Given the description of an element on the screen output the (x, y) to click on. 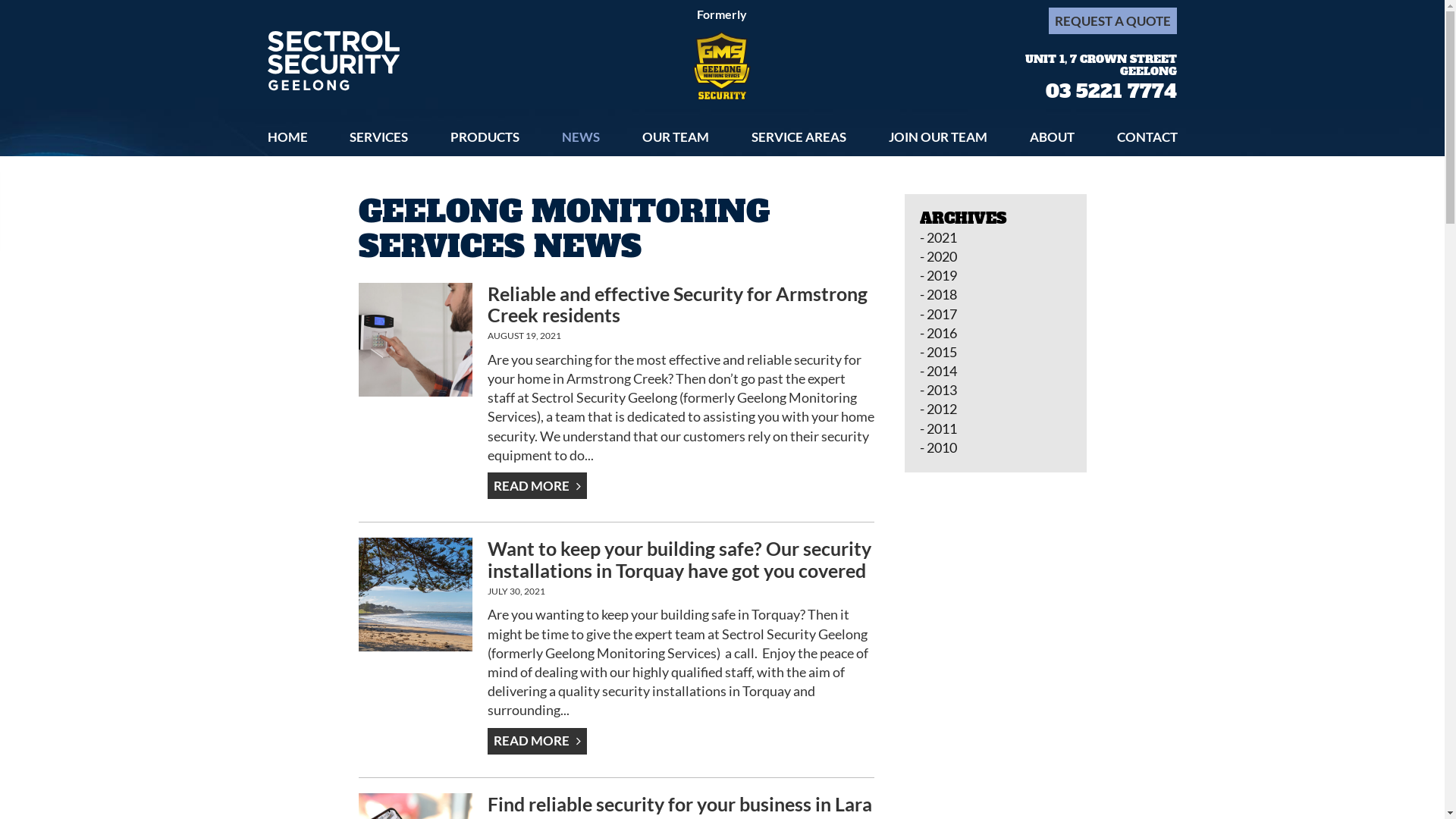
PRODUCTS Element type: text (484, 137)
2012 Element type: text (994, 408)
2018 Element type: text (994, 294)
READ MORE Element type: text (536, 741)
2011 Element type: text (994, 428)
OUR TEAM Element type: text (675, 137)
2020 Element type: text (994, 256)
HOME Element type: text (286, 137)
REQUEST A QUOTE Element type: text (1112, 20)
2015 Element type: text (994, 351)
SERVICES Element type: text (378, 137)
JOIN OUR TEAM Element type: text (937, 137)
2013 Element type: text (994, 389)
2014 Element type: text (994, 370)
NEWS Element type: text (580, 137)
READ MORE Element type: text (536, 485)
CONTACT Element type: text (1146, 137)
ABOUT Element type: text (1051, 137)
2021 Element type: text (994, 237)
2017 Element type: text (994, 313)
2016 Element type: text (994, 332)
SERVICE AREAS Element type: text (798, 137)
2019 Element type: text (994, 275)
2010 Element type: text (994, 447)
